Given the description of an element on the screen output the (x, y) to click on. 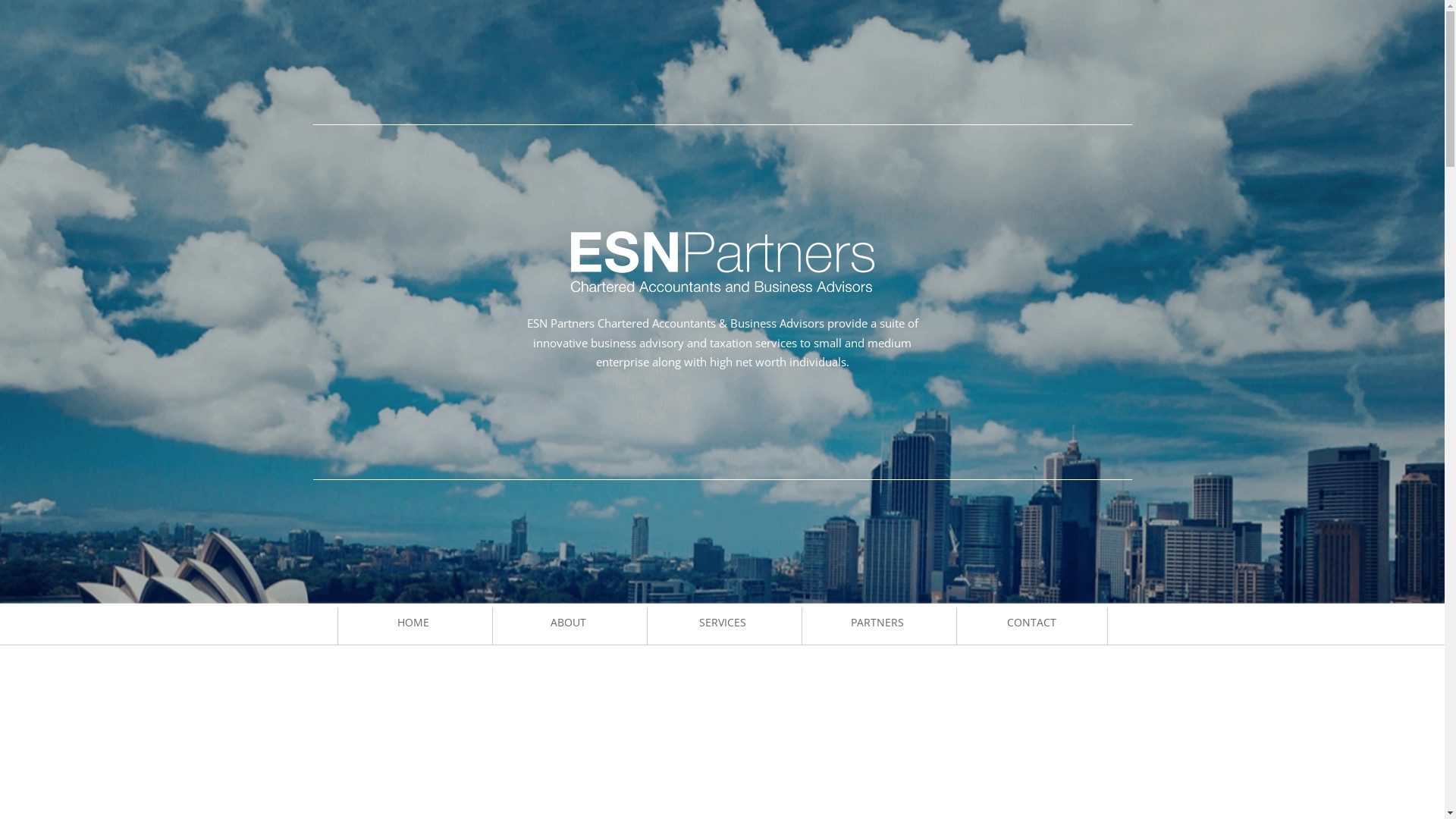
ABOUT Element type: text (568, 633)
PARTNERS Element type: text (877, 633)
SERVICES Element type: text (722, 633)
HOME Element type: text (413, 633)
CONTACT Element type: text (1031, 633)
